Given the description of an element on the screen output the (x, y) to click on. 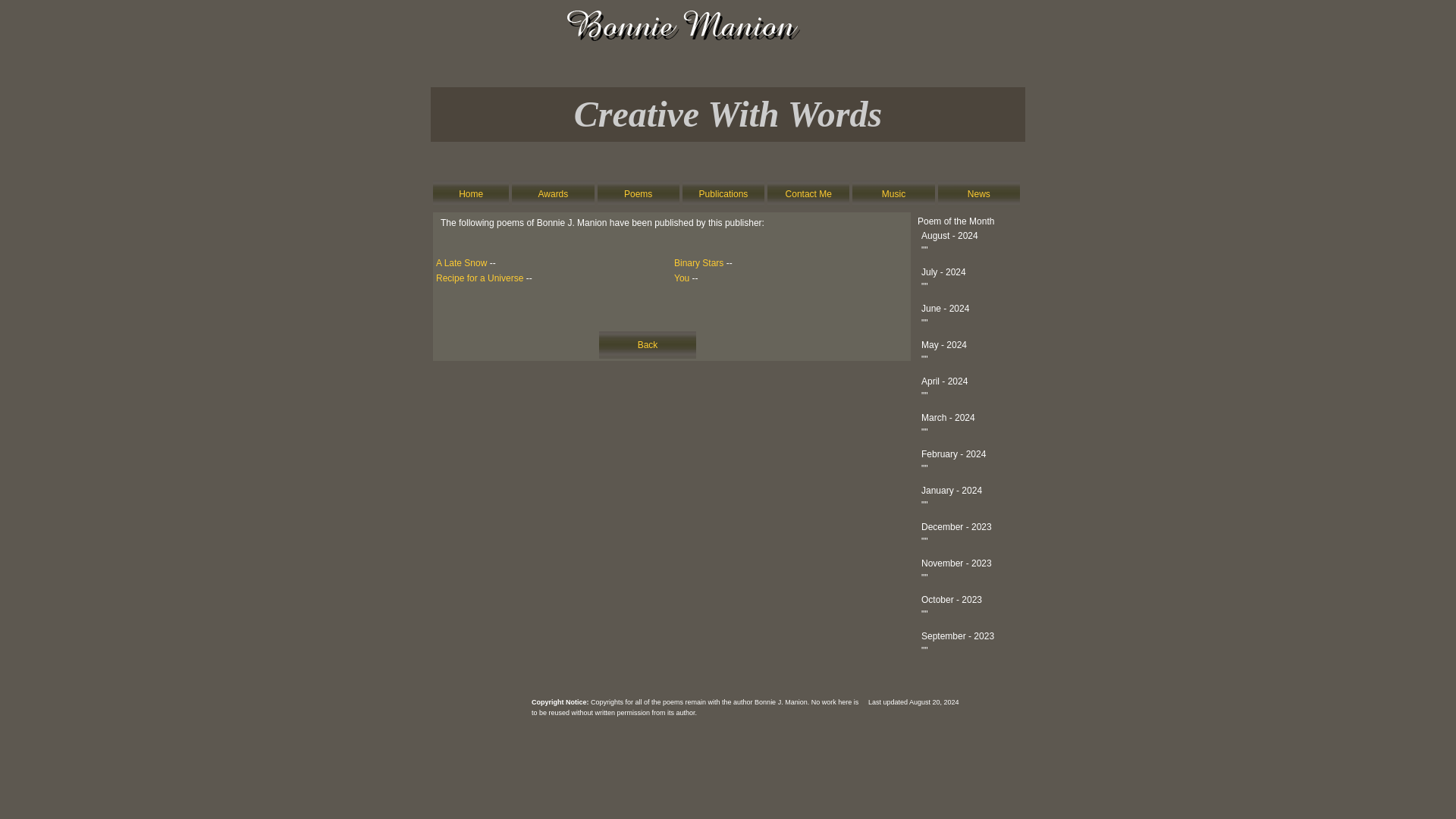
Back (647, 344)
A Late Snow (460, 262)
Publications (723, 194)
Poems (638, 194)
Binary Stars (698, 262)
Awards (553, 194)
Recipe for a Universe (478, 277)
Contact Me (808, 194)
You (681, 277)
News (979, 194)
